Given the description of an element on the screen output the (x, y) to click on. 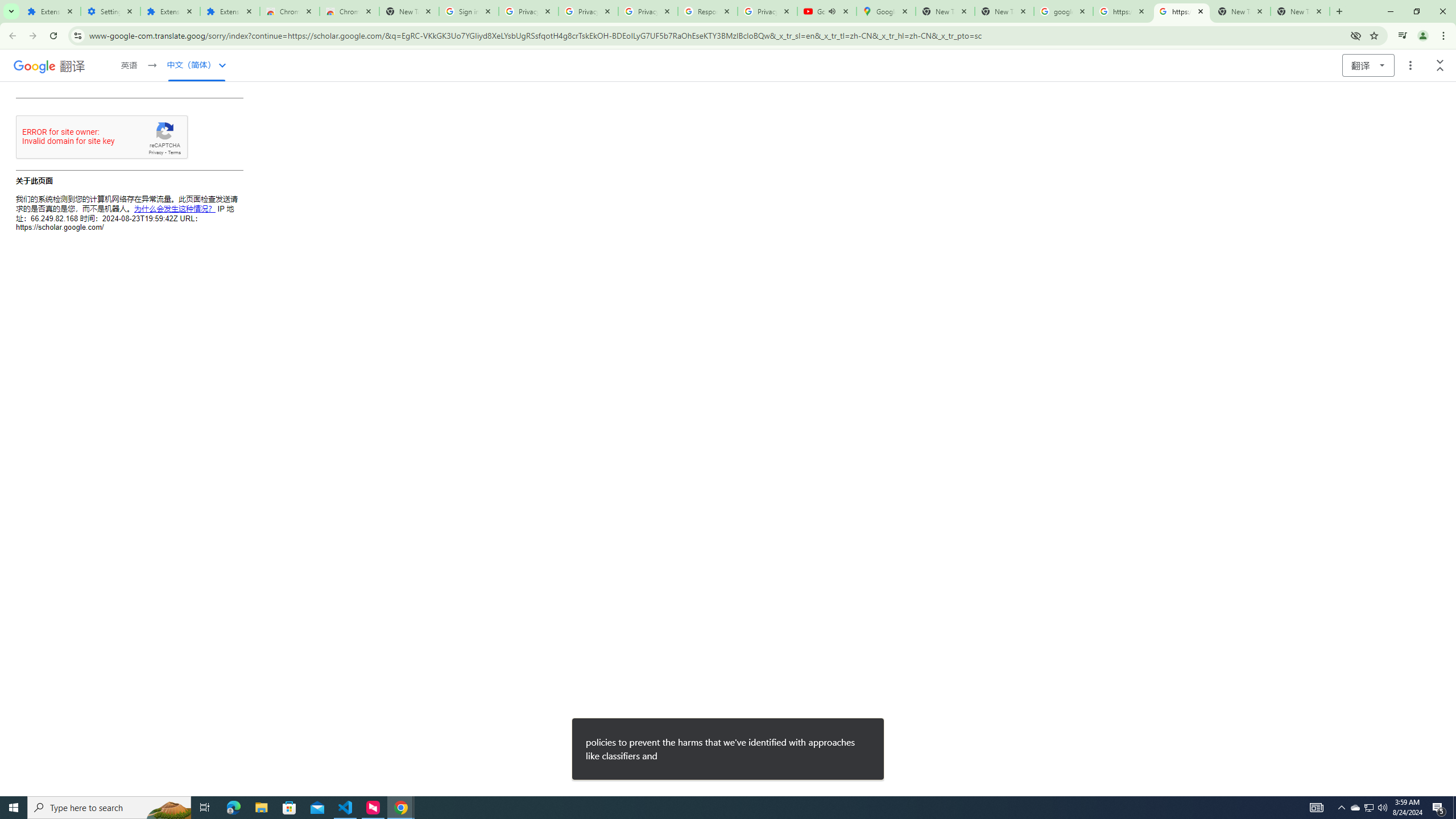
Extensions (50, 11)
Chrome Web Store - Themes (349, 11)
